Given the description of an element on the screen output the (x, y) to click on. 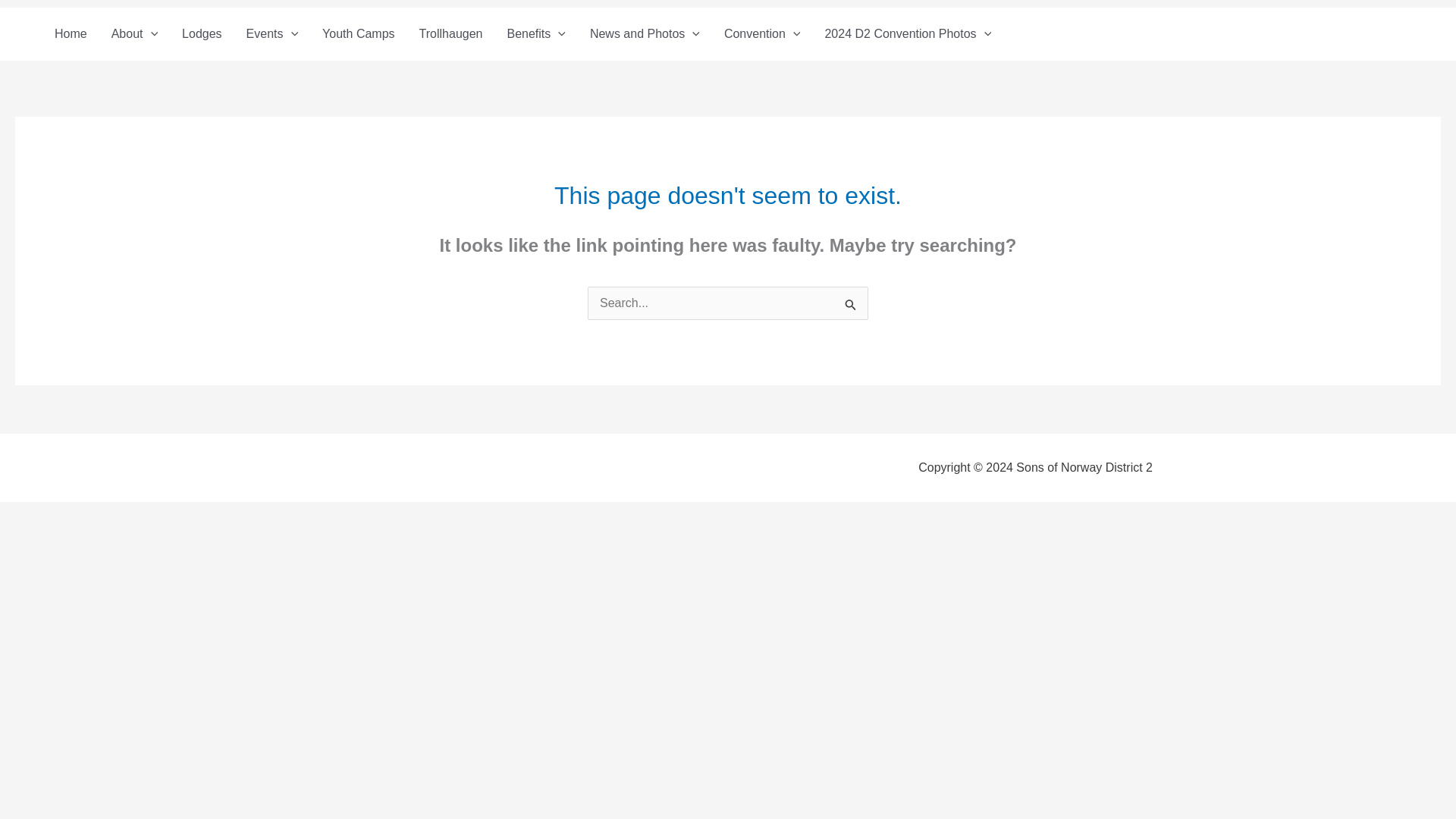
Trollhaugen (451, 33)
Home (70, 33)
Benefits (535, 33)
Convention (761, 33)
About (134, 33)
Lodges (202, 33)
Events (272, 33)
News and Photos (644, 33)
Youth Camps (358, 33)
